Given the description of an element on the screen output the (x, y) to click on. 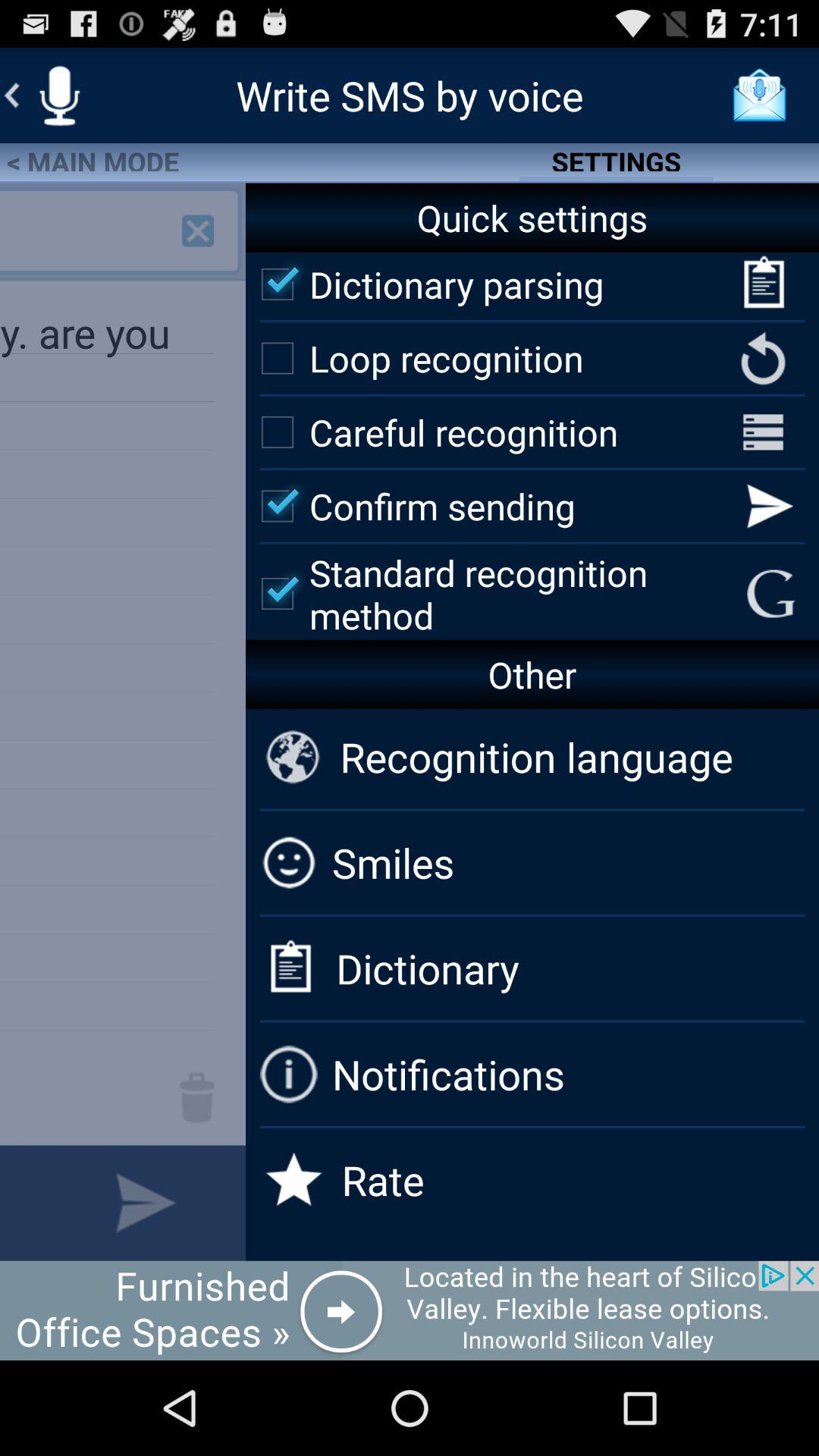
send to trash (197, 1097)
